Given the description of an element on the screen output the (x, y) to click on. 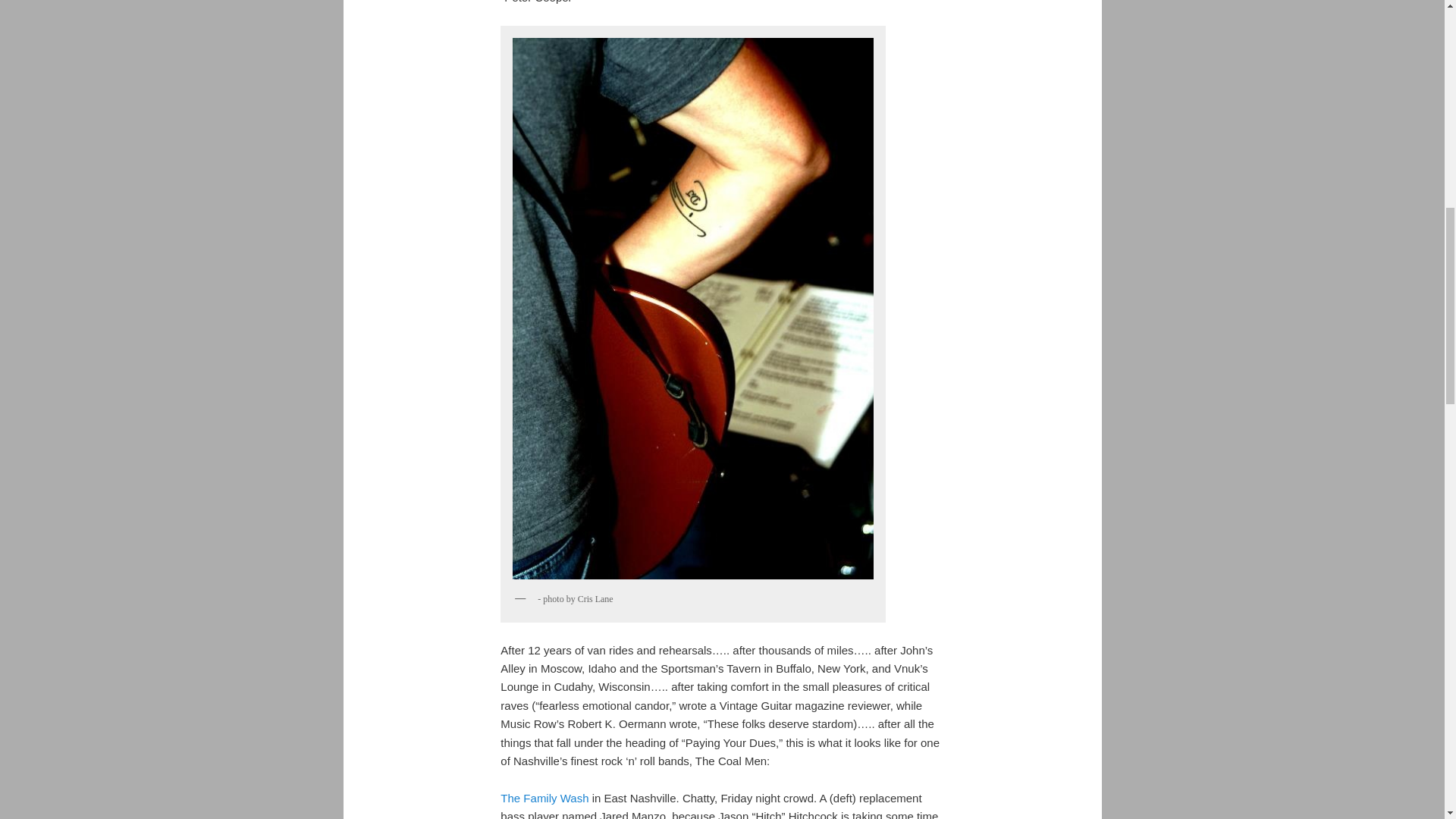
The Family Wash (544, 797)
